Given the description of an element on the screen output the (x, y) to click on. 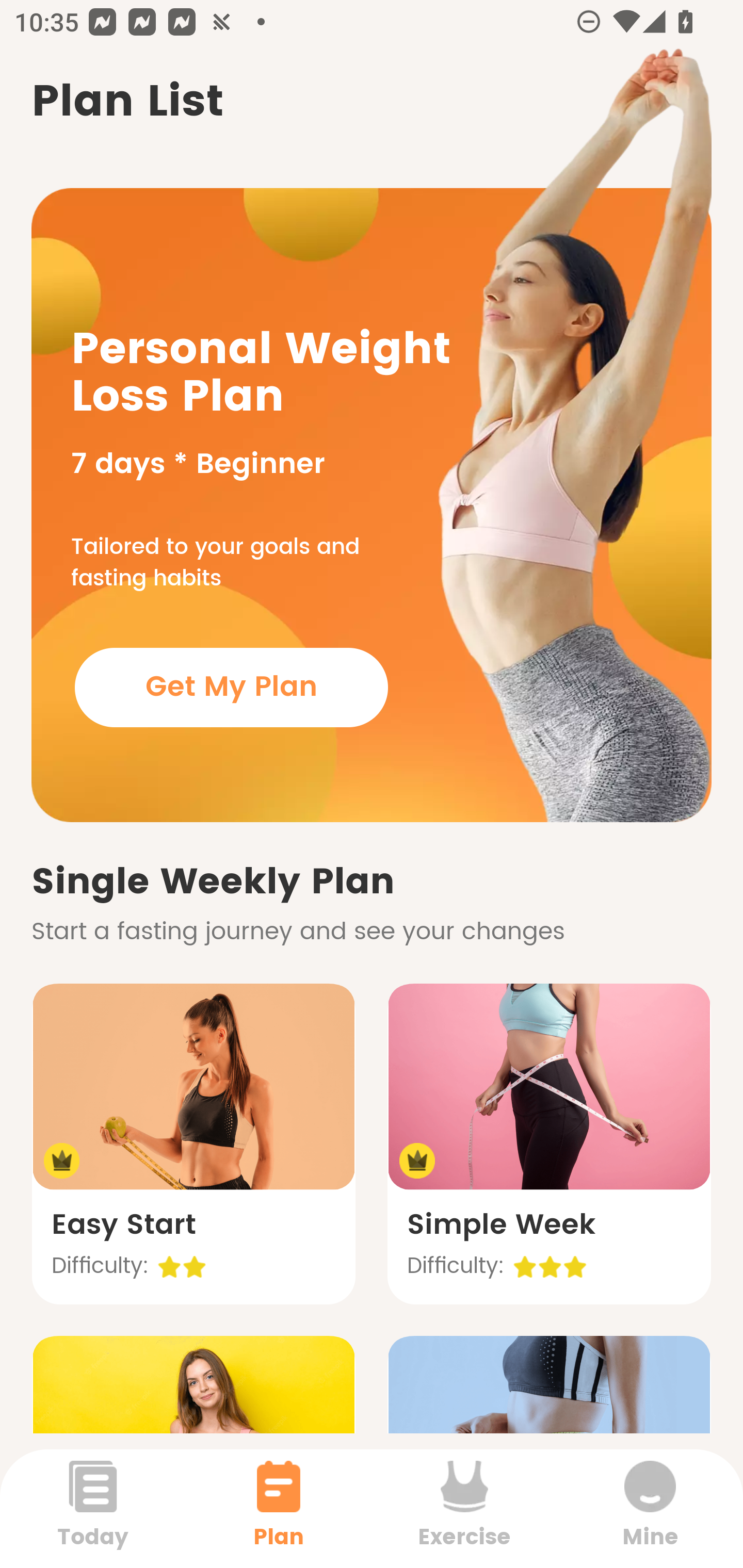
Get My Plan (231, 687)
Easy Start Difficulty: 2.0 (193, 1143)
Simple Week Difficulty: 3.0 (549, 1143)
Today (92, 1508)
Exercise (464, 1508)
Mine (650, 1508)
